Given the description of an element on the screen output the (x, y) to click on. 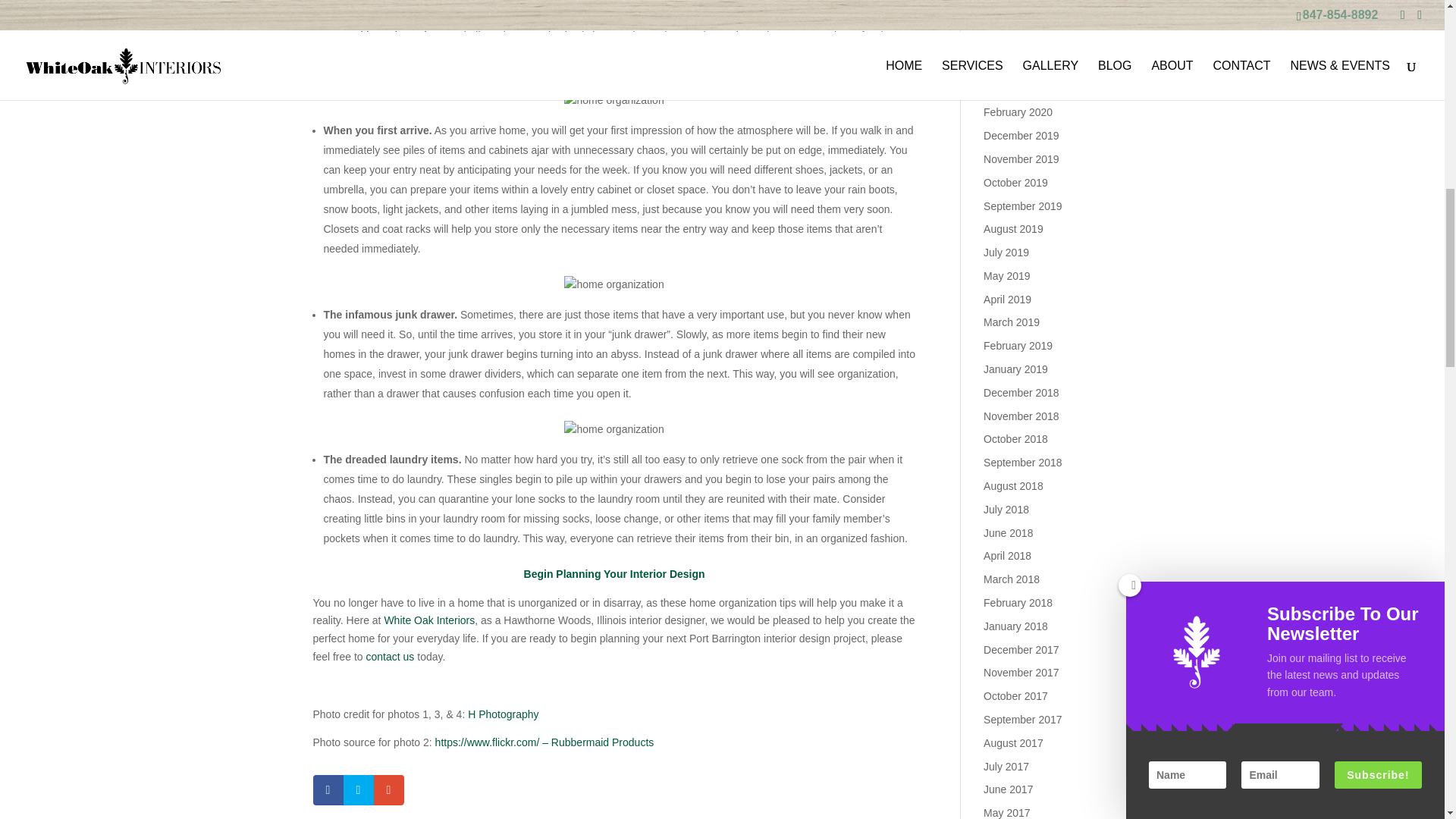
H Photography (502, 714)
White Oak Interiors (429, 620)
Begin Planning Your Interior Design (614, 573)
contact us (390, 656)
White Oak Interiors (395, 35)
